Given the description of an element on the screen output the (x, y) to click on. 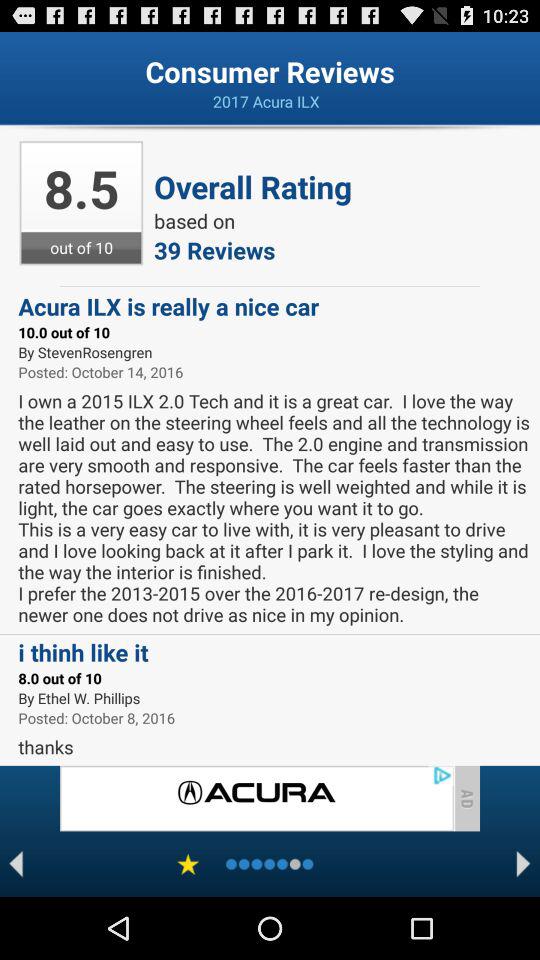
go to next page (523, 864)
